Given the description of an element on the screen output the (x, y) to click on. 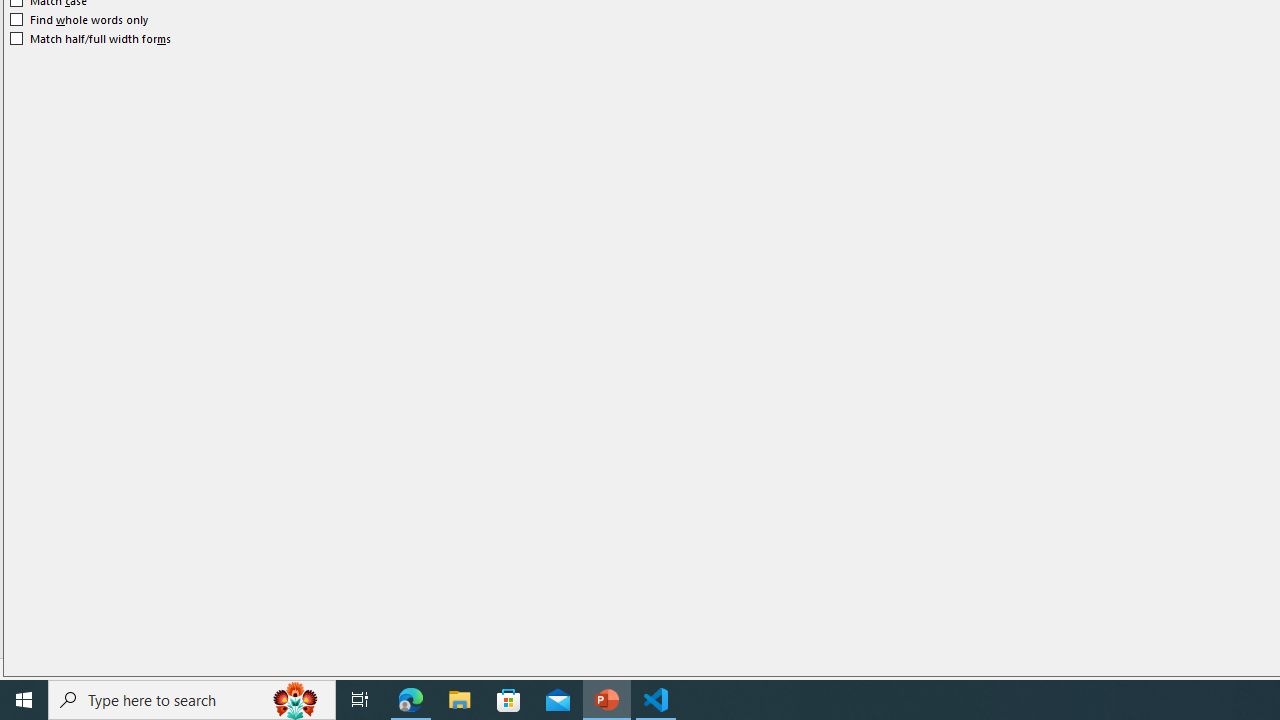
Find whole words only (79, 20)
Match half/full width forms (91, 38)
